Given the description of an element on the screen output the (x, y) to click on. 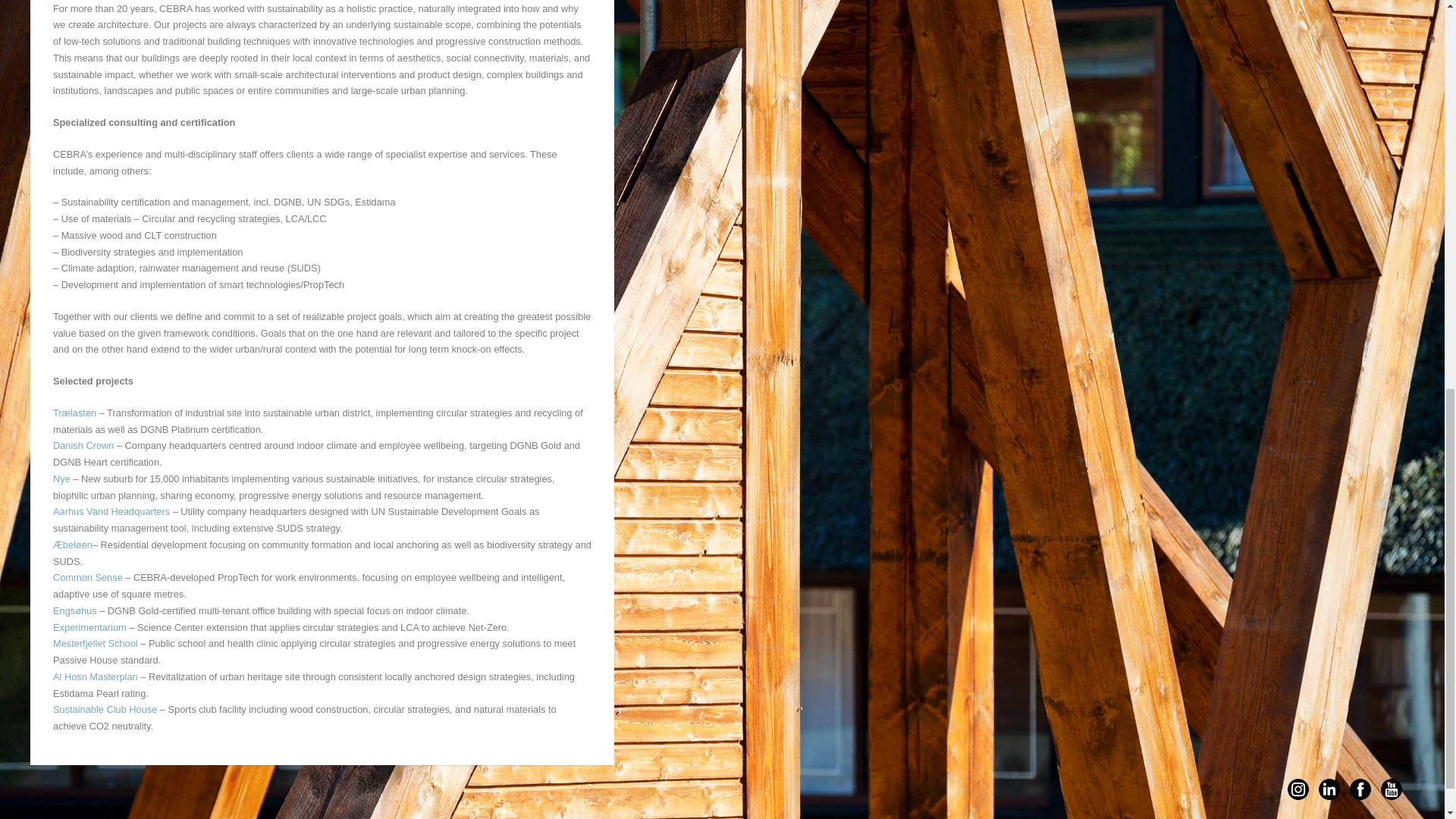
Visit Us On Youtube (1390, 21)
Common Sense (87, 577)
Al Hosn Masterplan (95, 676)
Visit Us On Instagram (1297, 21)
Aarhus Vand Headquarters (111, 511)
Nye (60, 478)
Danish Crown (82, 445)
Experimentarium (89, 627)
Mesterfjellet School (95, 643)
Visit Us On Linkedin (1328, 21)
